Given the description of an element on the screen output the (x, y) to click on. 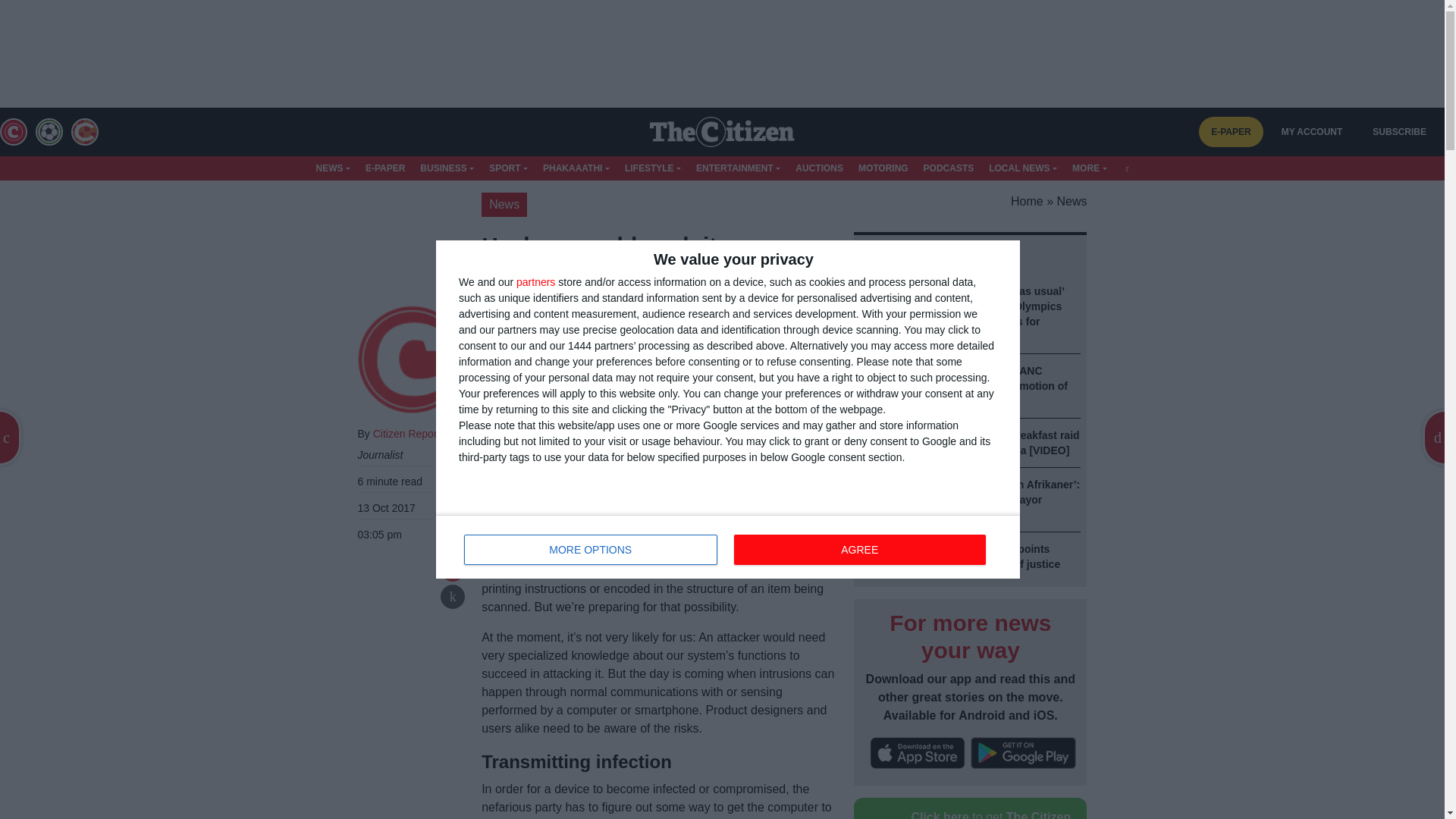
MORE OPTIONS (727, 546)
partners (590, 549)
AGREE (535, 281)
